Given the description of an element on the screen output the (x, y) to click on. 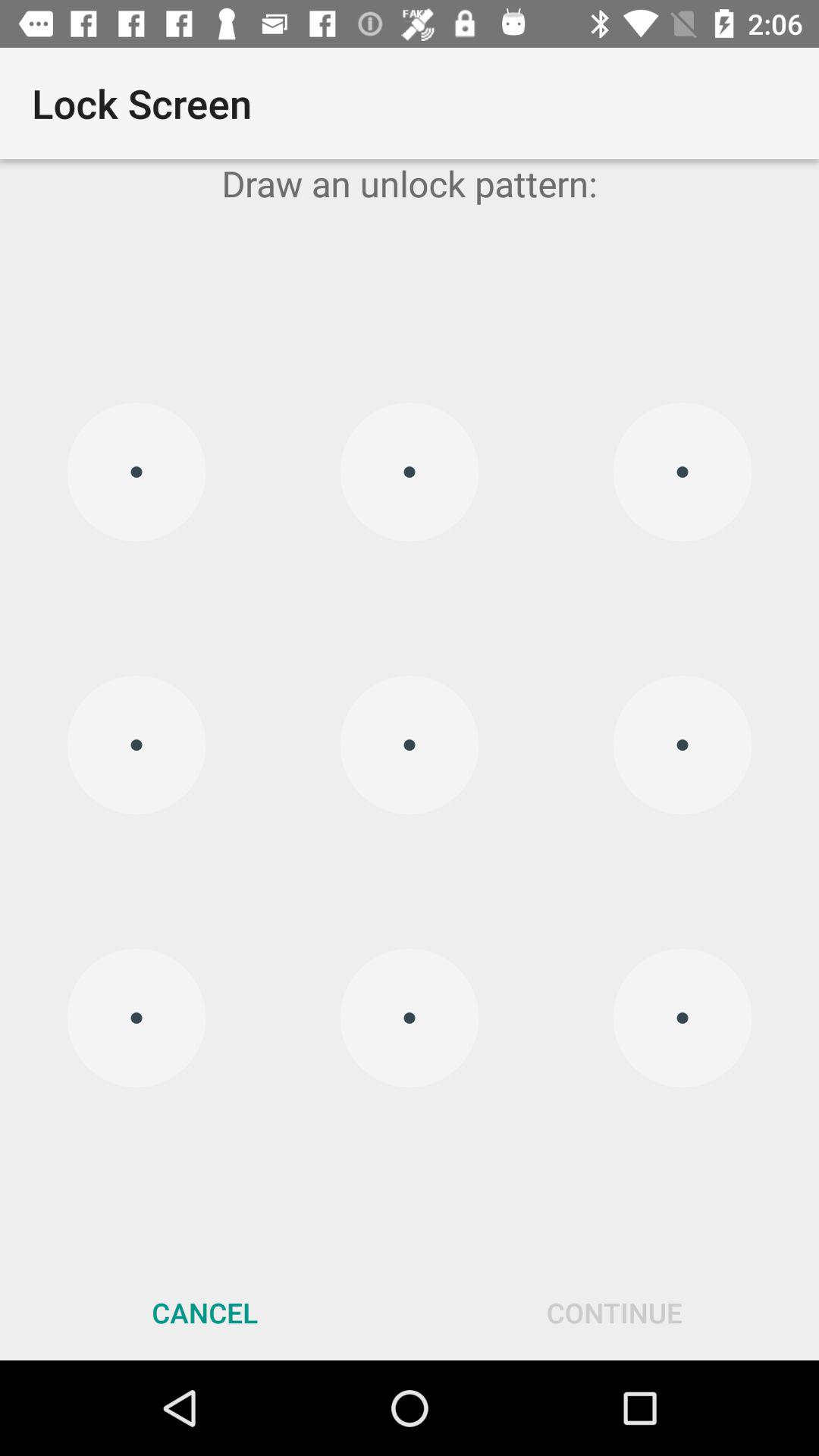
swipe until the continue (614, 1312)
